Given the description of an element on the screen output the (x, y) to click on. 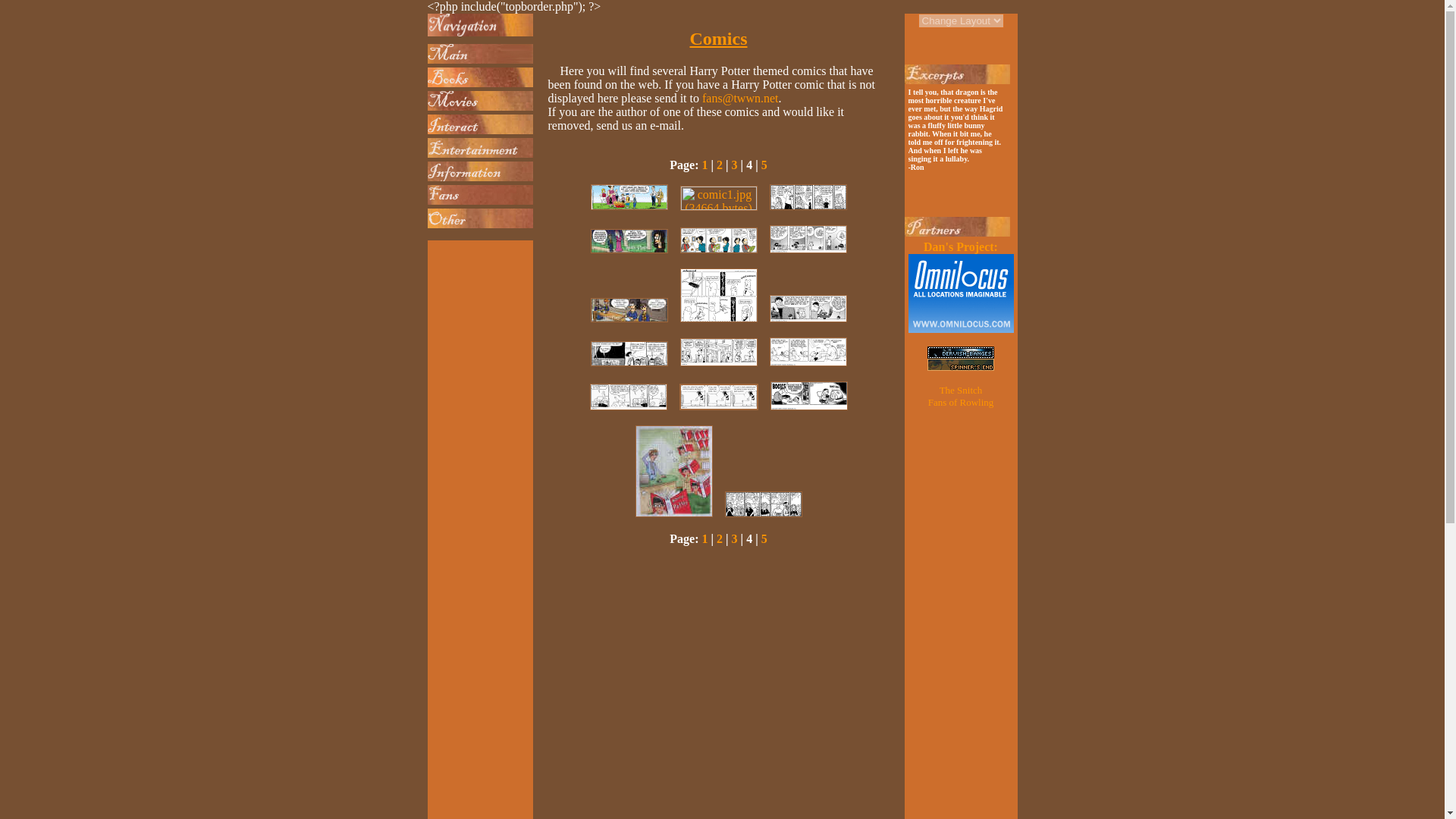
Interact (480, 124)
Advertisement (960, 52)
Main (480, 53)
Other (480, 218)
Affiliates (956, 226)
Excerpts (956, 74)
Entertainment (480, 148)
Fans (480, 194)
Movies (480, 100)
Information (480, 170)
